Given the description of an element on the screen output the (x, y) to click on. 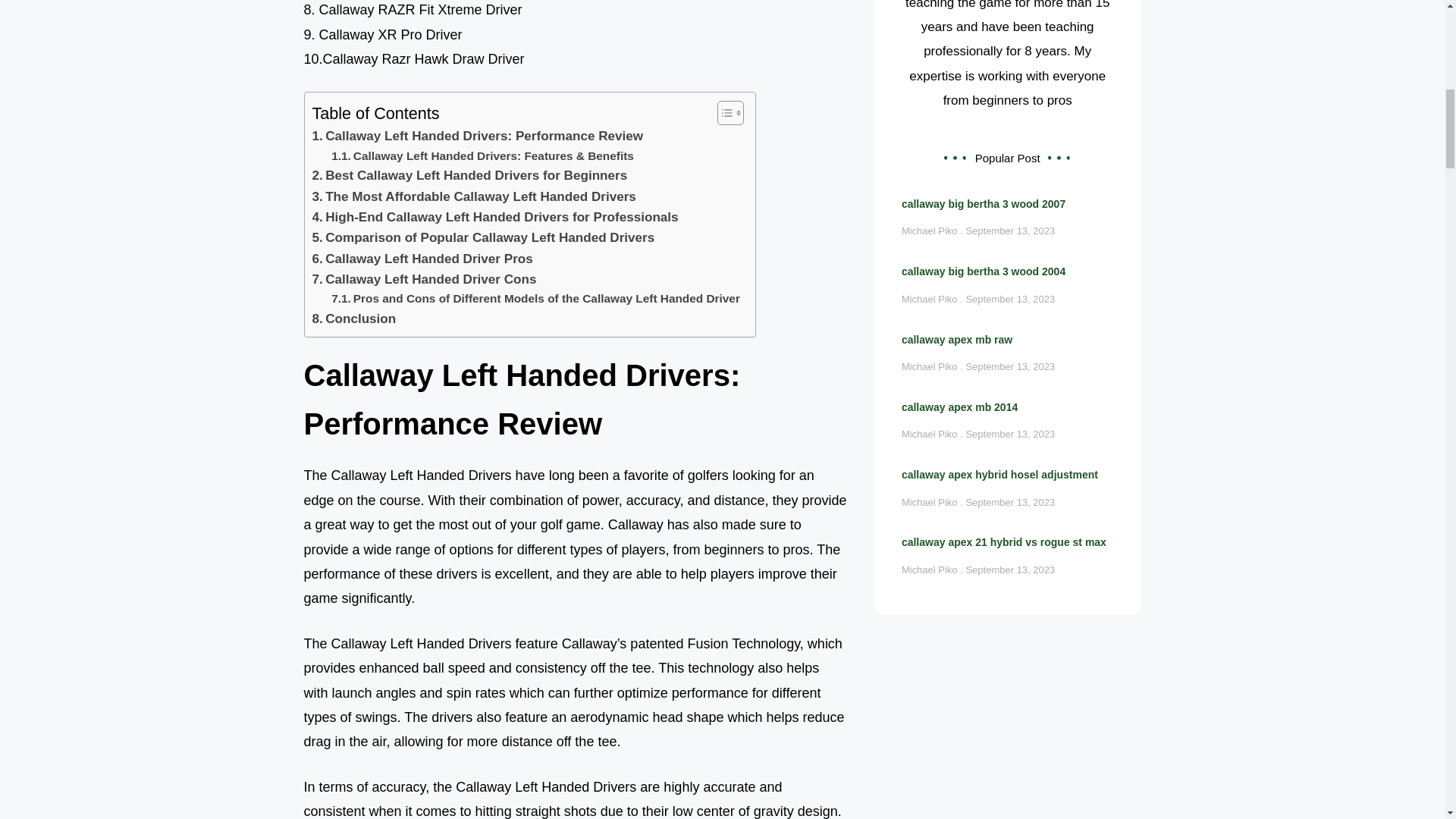
High-End Callaway Left Handed Drivers for Professionals (495, 217)
Callaway Left Handed Drivers: Performance Review (478, 136)
Best Callaway Left Handed Drivers for Beginners (470, 175)
High-End Callaway Left Handed Drivers for Professionals (495, 217)
Conclusion (354, 318)
Callaway Left Handed Driver Pros (422, 258)
Comparison of Popular Callaway Left Handed Drivers (484, 237)
Callaway Left Handed Driver Cons (425, 279)
The Most Affordable Callaway Left Handed Drivers (474, 196)
